Given the description of an element on the screen output the (x, y) to click on. 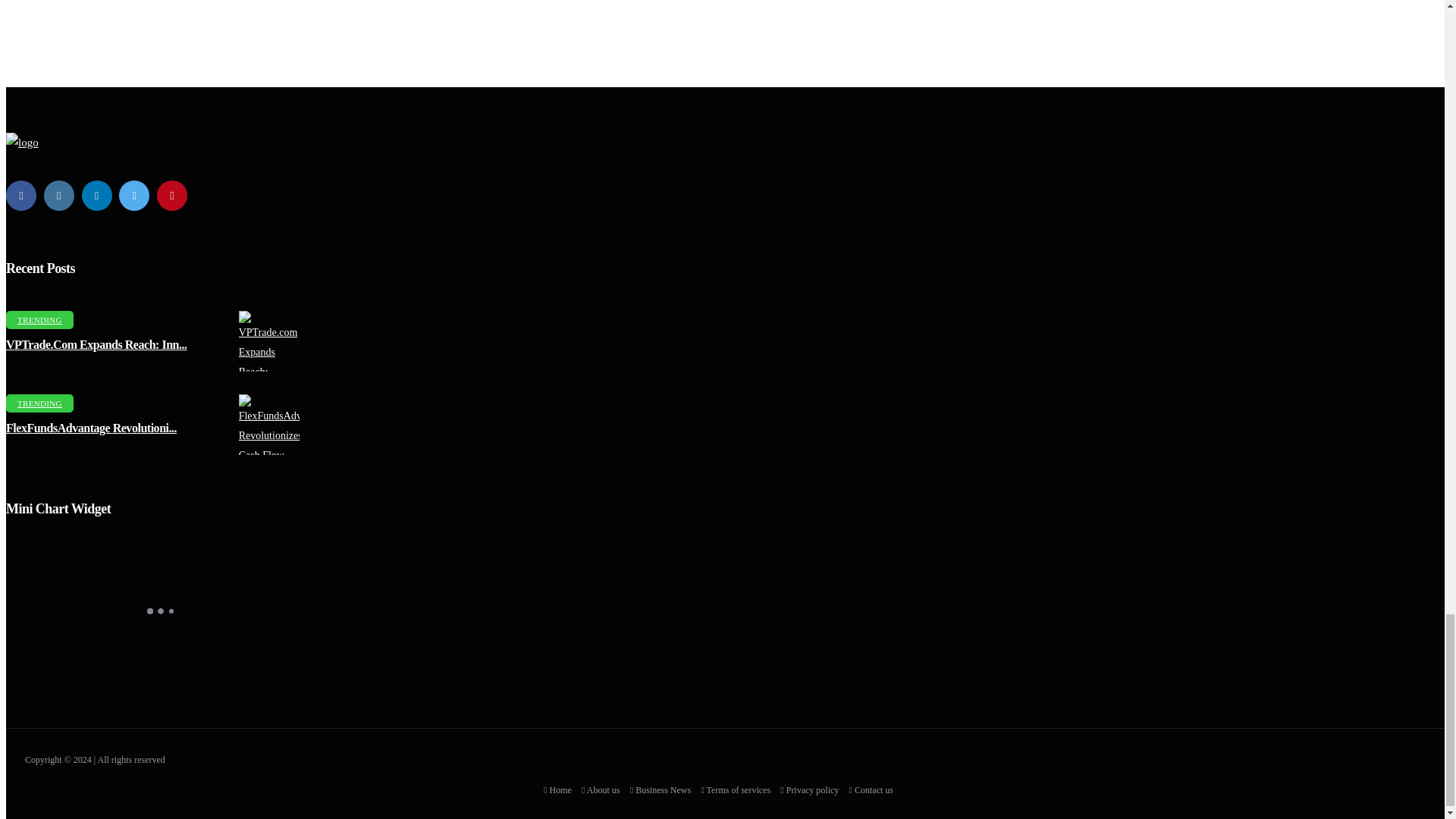
Round white dining table on brown hardwood (276, 424)
Round white dining table on brown hardwood (276, 341)
mini symbol-overview TradingView widget (159, 610)
